Given the description of an element on the screen output the (x, y) to click on. 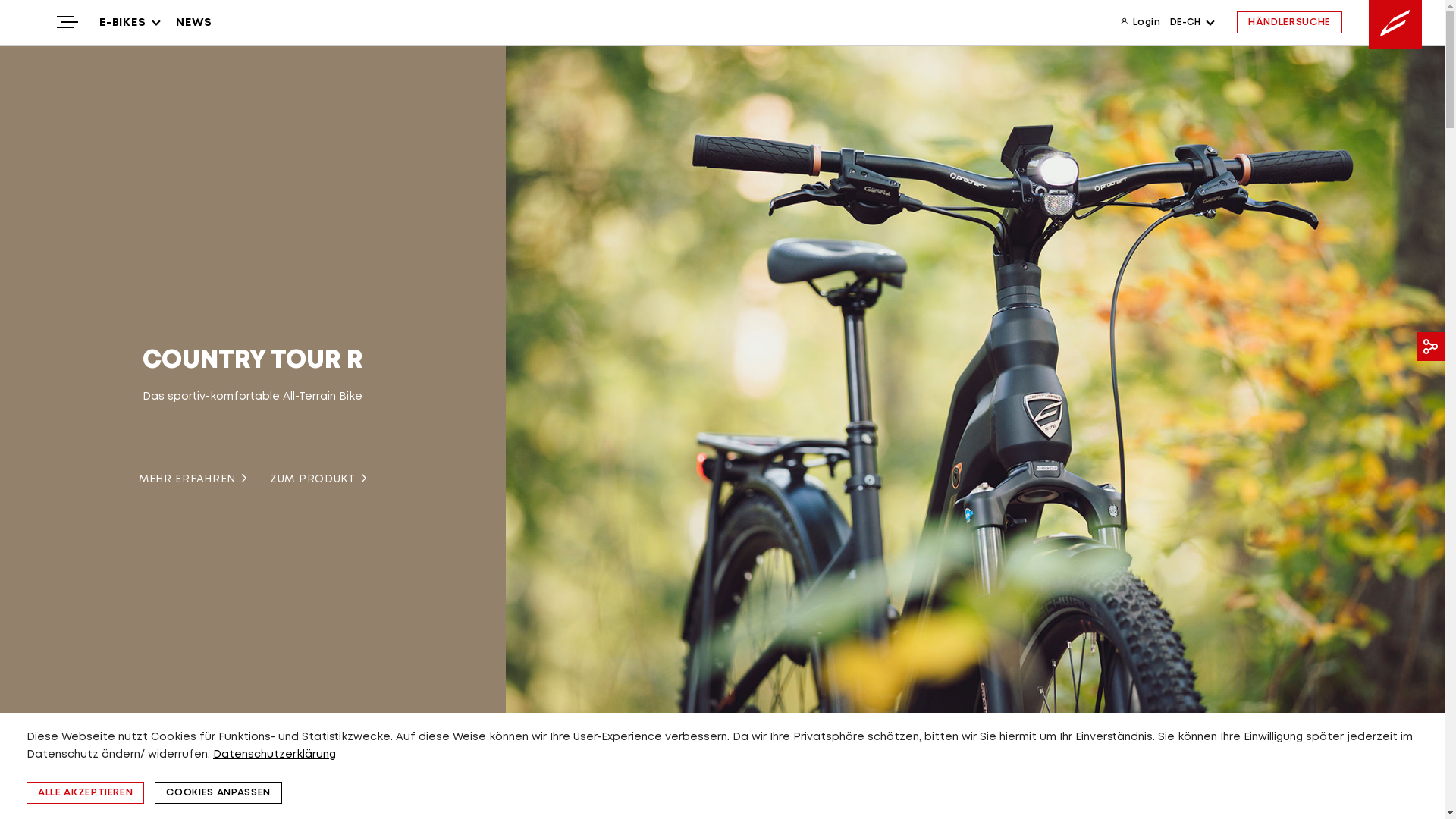
MEHR ERFAHREN Element type: text (178, 478)
PRODUKT ANSEHEN Element type: text (318, 478)
COOKIES ANPASSEN Element type: text (217, 792)
DE-CH Element type: text (1191, 22)
Login Element type: text (1140, 22)
ALLE AKZEPTIEREN Element type: text (85, 792)
NEWS Element type: text (194, 22)
E-BIKES Element type: text (129, 22)
